Given the description of an element on the screen output the (x, y) to click on. 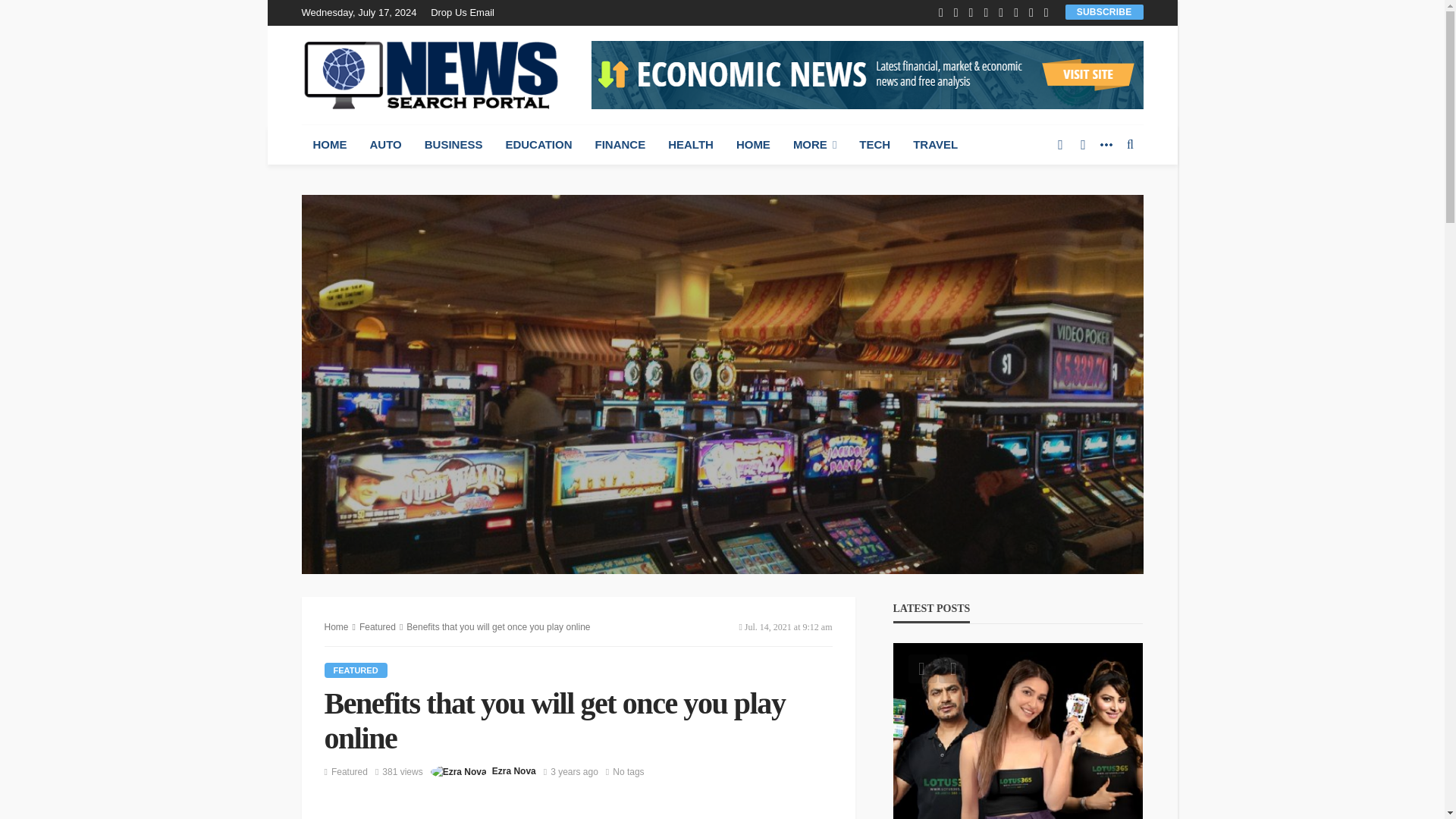
SUBSCRIBE (1103, 11)
subscribe (1103, 11)
Drop Us Email (466, 12)
